Given the description of an element on the screen output the (x, y) to click on. 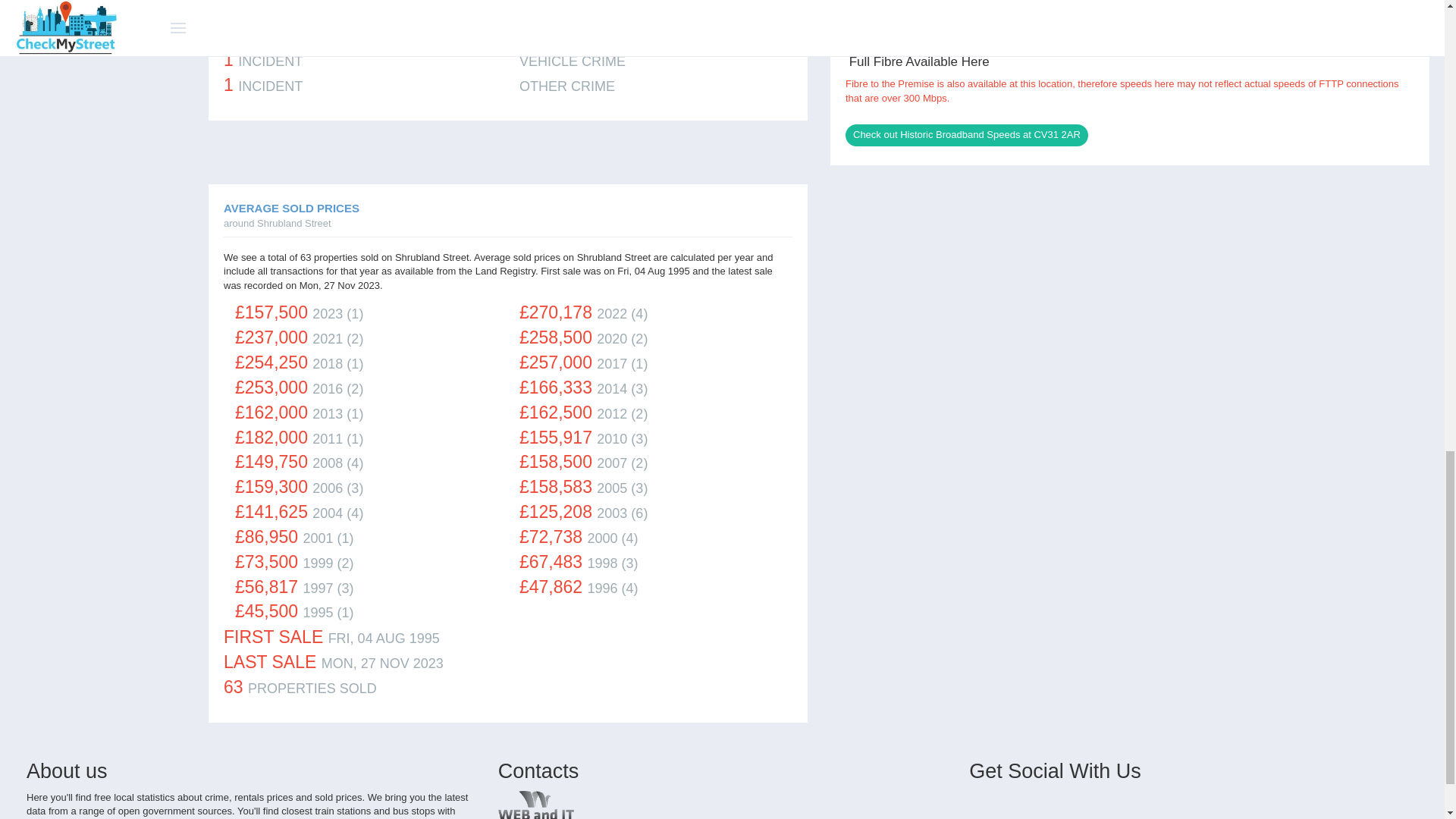
View Historic Broadband Speeds at CV31 2AR (966, 135)
Check out Historic Broadband Speeds at CV31 2AR (966, 135)
on (789, 212)
